Given the description of an element on the screen output the (x, y) to click on. 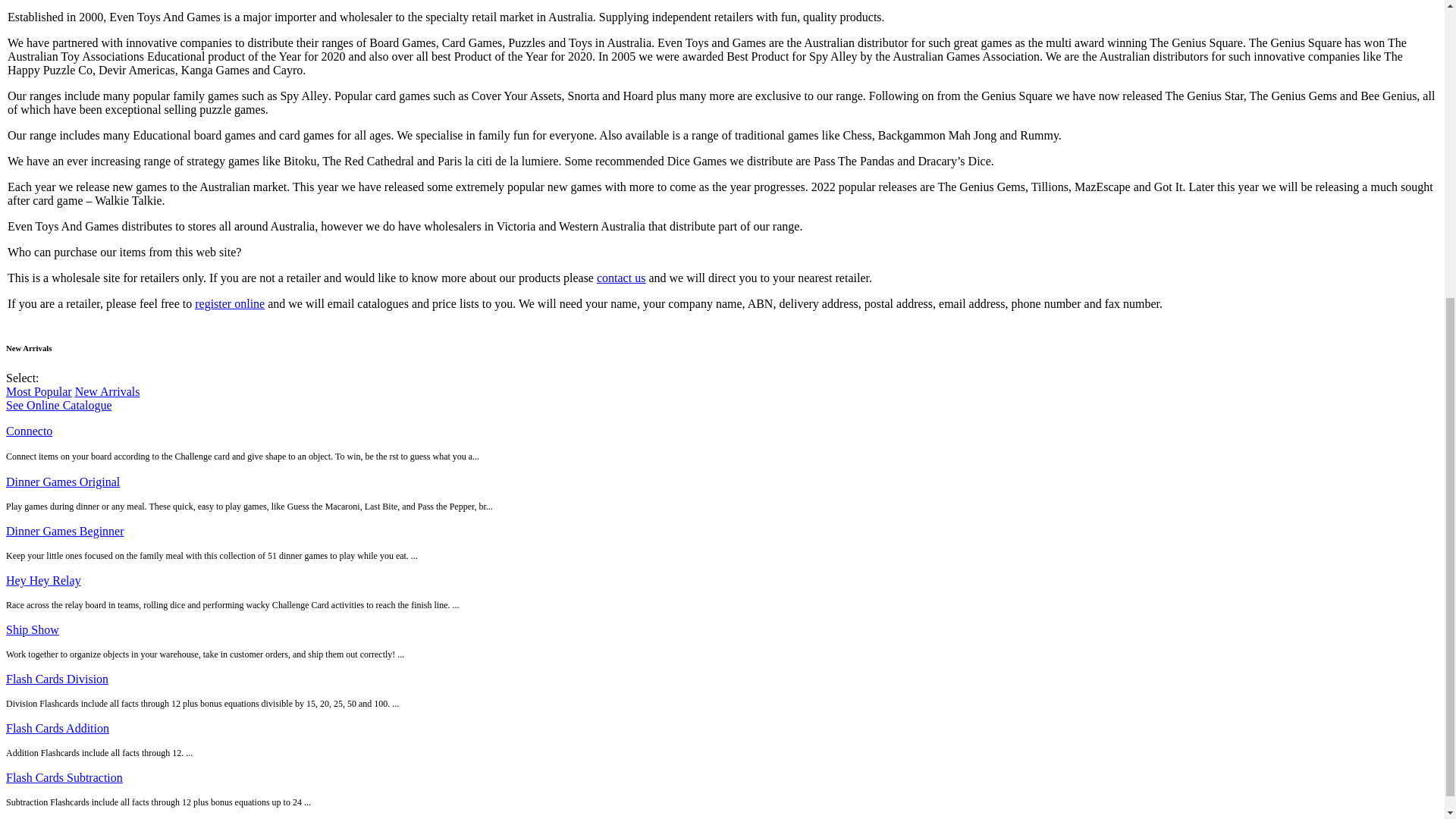
Dinner Games Original (62, 481)
contact us (620, 277)
Ship Show (32, 629)
register online (229, 303)
Dinner Games Beginner (64, 530)
Flash Cards Subtraction (63, 777)
Most Popular (38, 391)
Connecto (28, 431)
Flash Cards Addition (57, 727)
Hey Hey Relay (43, 580)
